Given the description of an element on the screen output the (x, y) to click on. 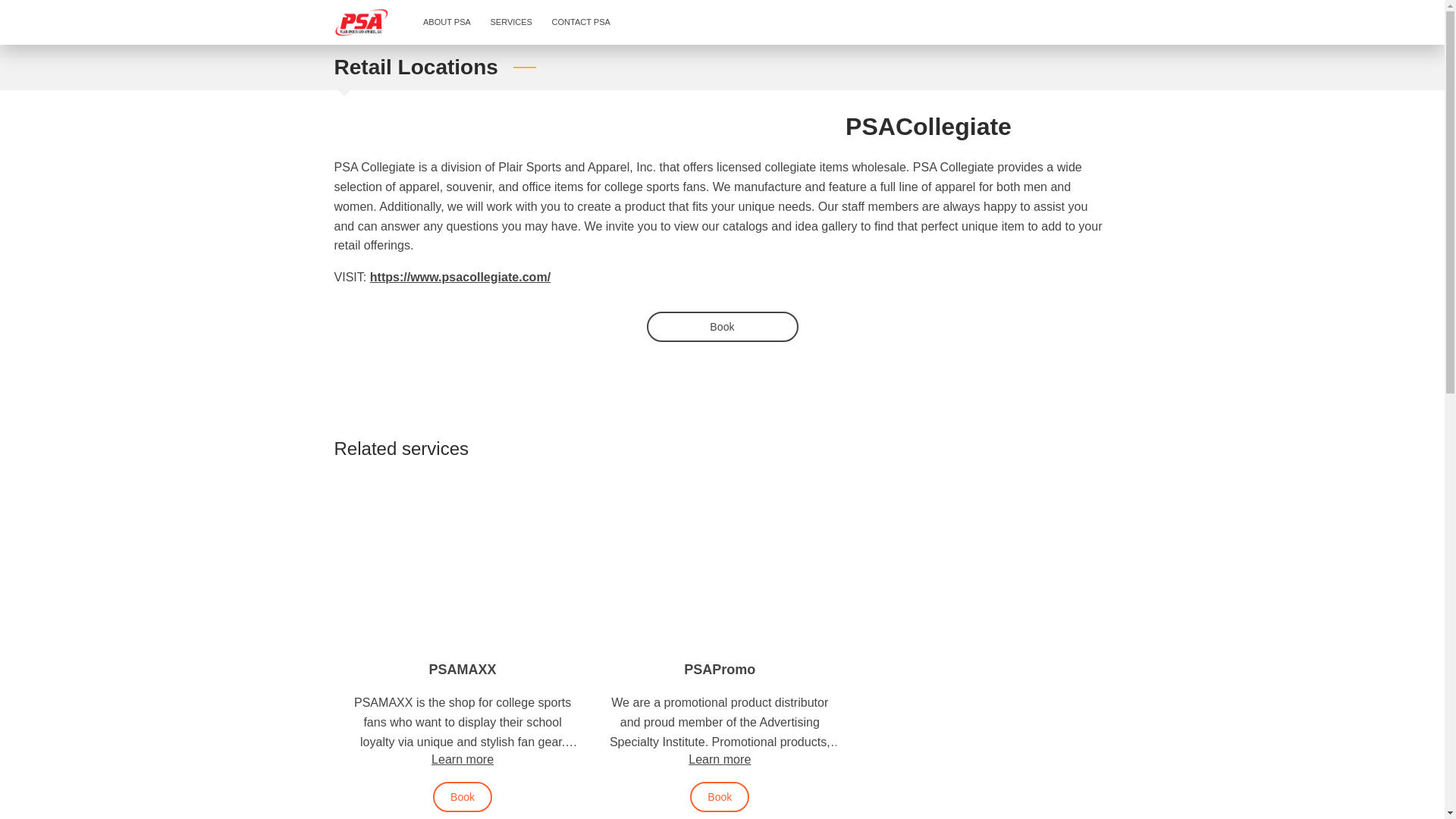
CONTACT PSA (580, 22)
ABOUT PSA (446, 22)
Learn more (719, 758)
Book (719, 797)
Learn more (461, 758)
Book (462, 797)
Book (721, 327)
PSAPromo (719, 669)
PSAMAXX (462, 669)
SERVICES (510, 22)
